Given the description of an element on the screen output the (x, y) to click on. 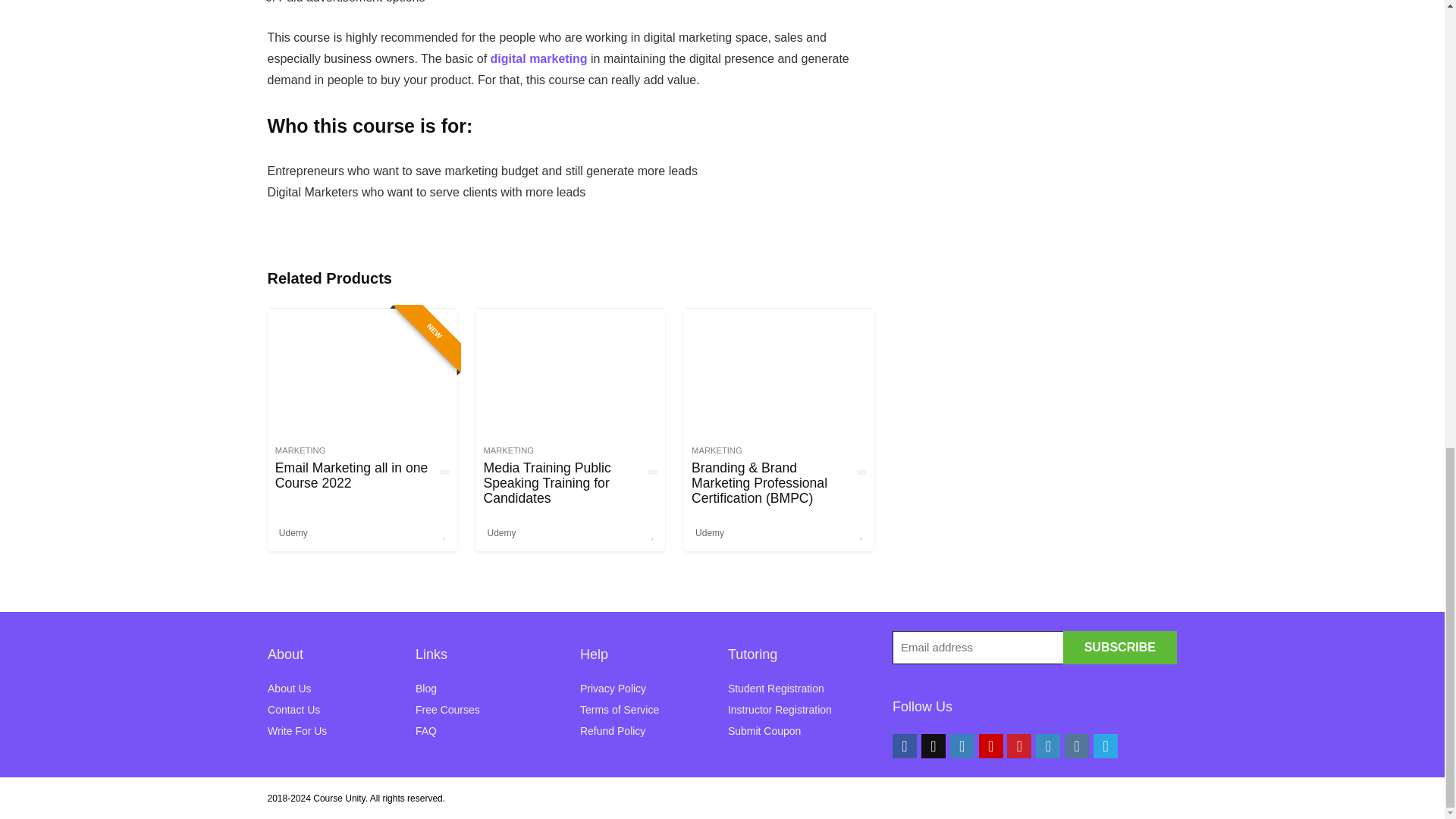
Udemy (293, 532)
Vkontakte (1076, 745)
digital marketing (539, 58)
Facebook (904, 745)
Udemy (501, 532)
Udemy (709, 532)
Linkedin (1047, 745)
Instagramm (962, 745)
Pinterest (1018, 745)
Subscribe (1119, 647)
